Given the description of an element on the screen output the (x, y) to click on. 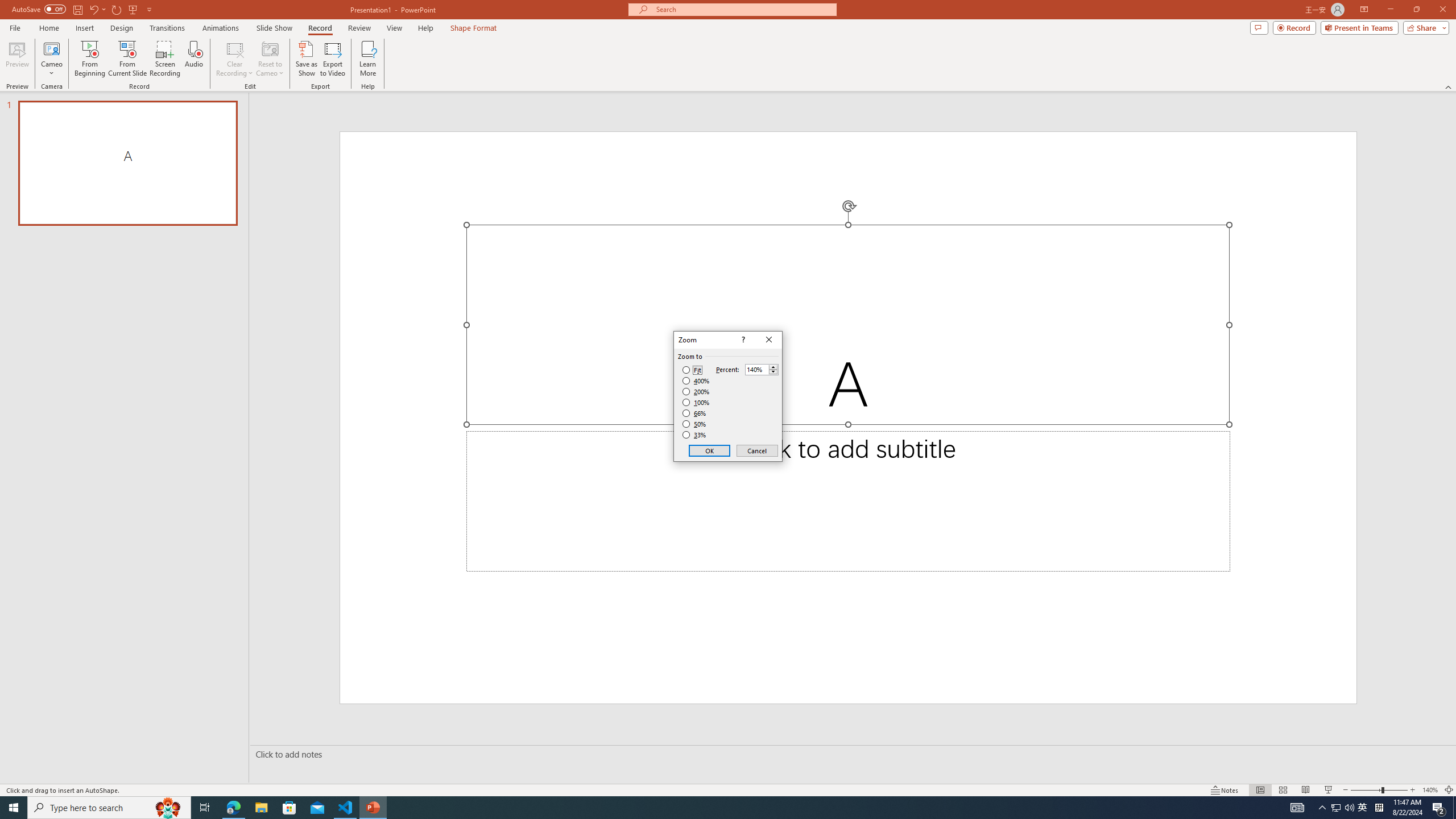
Running applications (707, 807)
Percent (761, 369)
Save as Show (306, 58)
66% (694, 412)
